Given the description of an element on the screen output the (x, y) to click on. 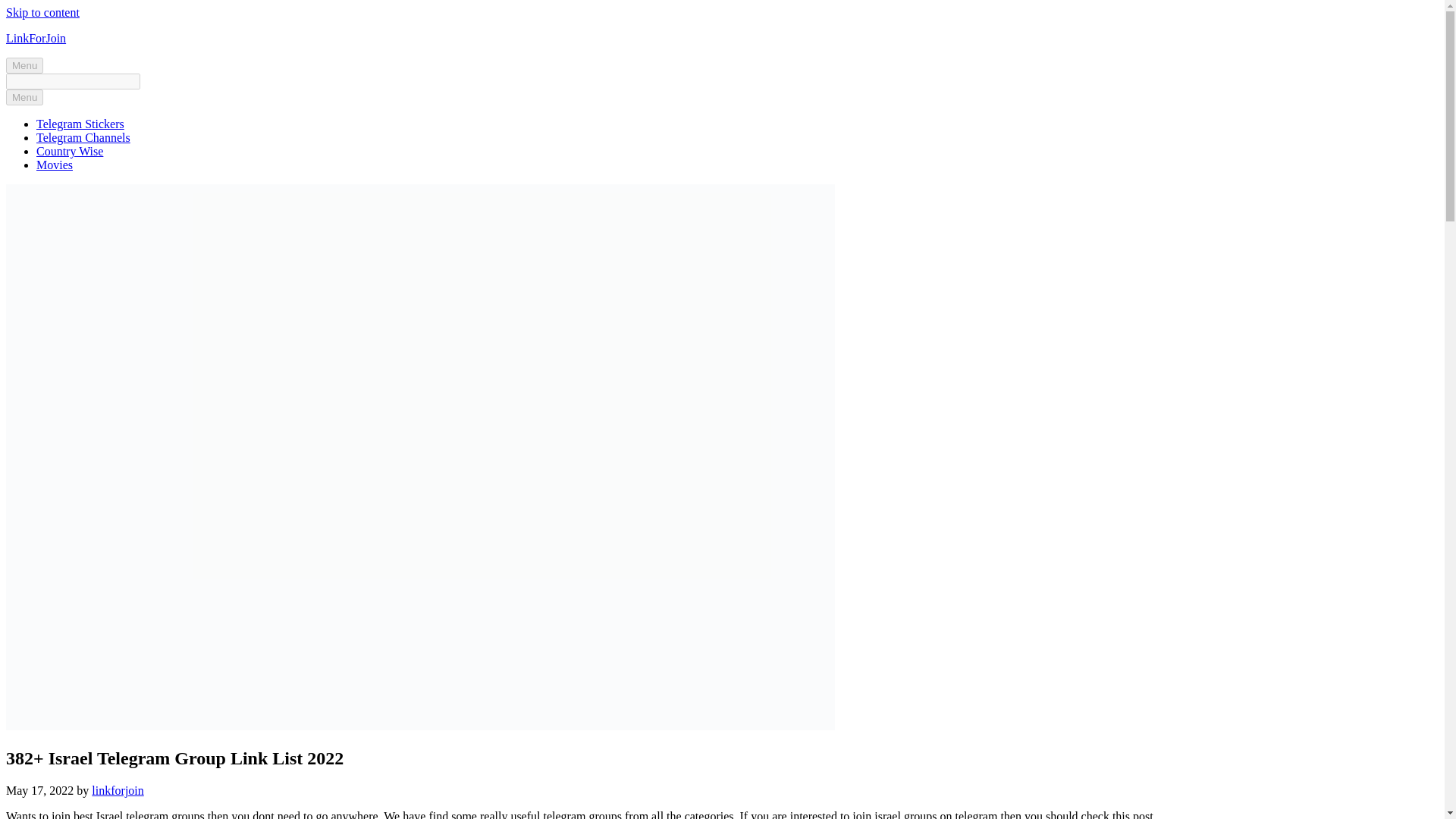
Skip to content (42, 11)
Telegram Channels (83, 137)
View all posts by linkforjoin (116, 789)
Telegram Stickers (79, 123)
Skip to content (42, 11)
linkforjoin (116, 789)
Movies (54, 164)
Menu (24, 97)
LinkForJoin (35, 38)
Country Wise (69, 151)
